Given the description of an element on the screen output the (x, y) to click on. 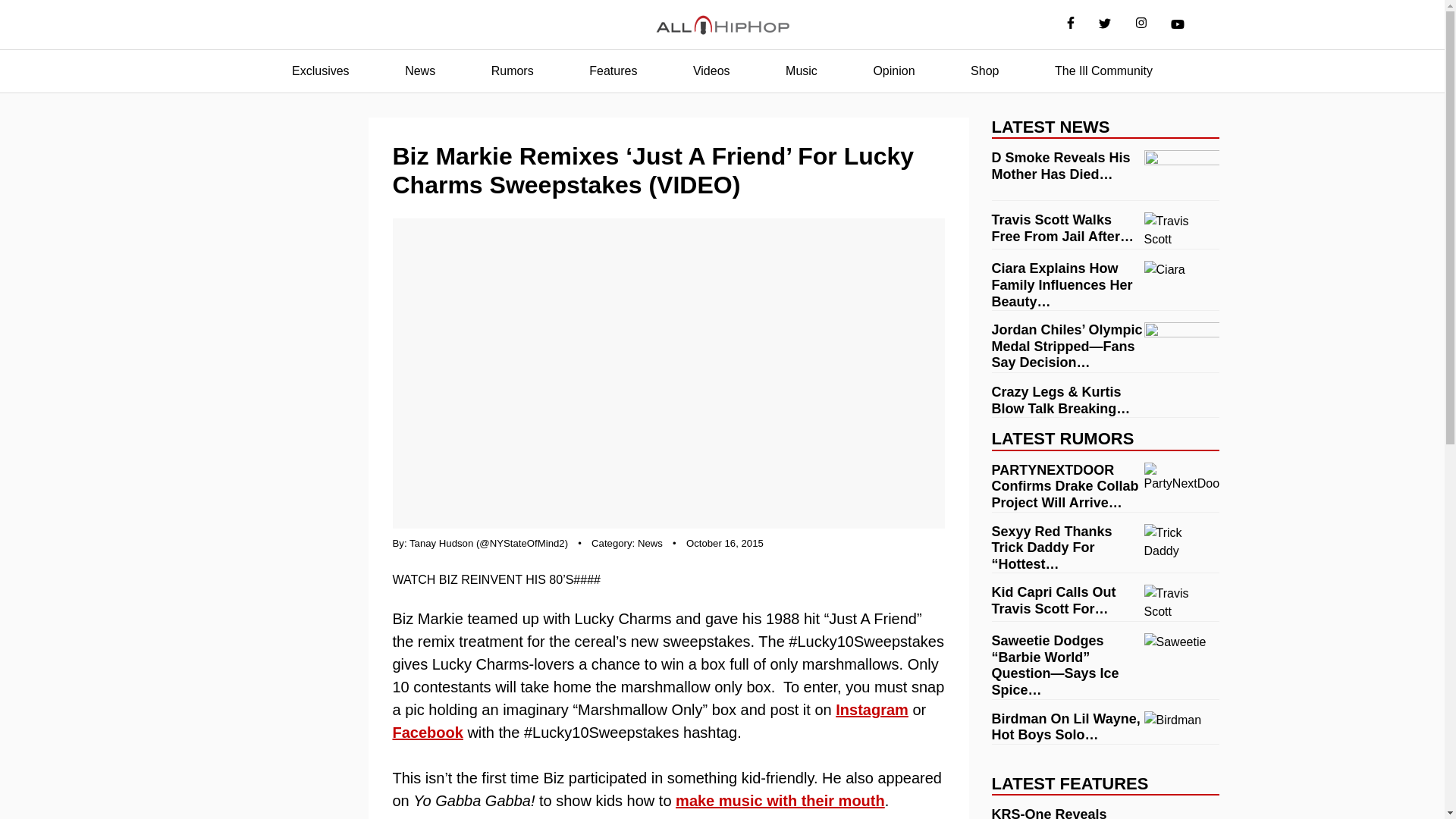
Videos (711, 70)
The Ill Community (1103, 70)
Rumors (512, 70)
AllHipHop (722, 25)
Shop (984, 70)
Features (612, 70)
Music (801, 70)
Opinion (893, 70)
News (649, 542)
October 16, 2015 (723, 542)
